Given the description of an element on the screen output the (x, y) to click on. 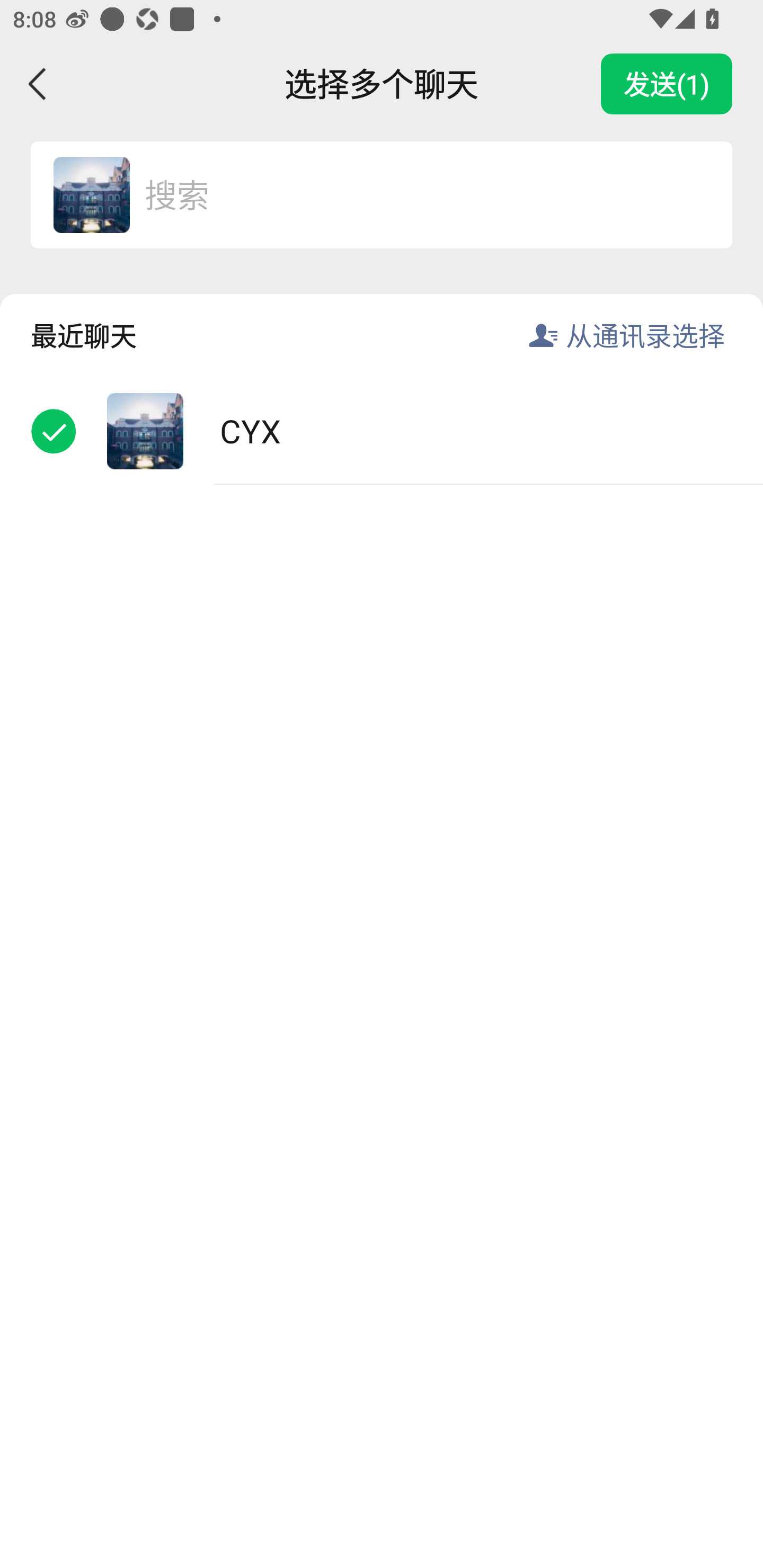
返回 (38, 83)
发送(1) (666, 83)
CYX (91, 194)
搜索 (418, 194)
从通讯录选择 (645, 335)
CYX (381, 430)
